Given the description of an element on the screen output the (x, y) to click on. 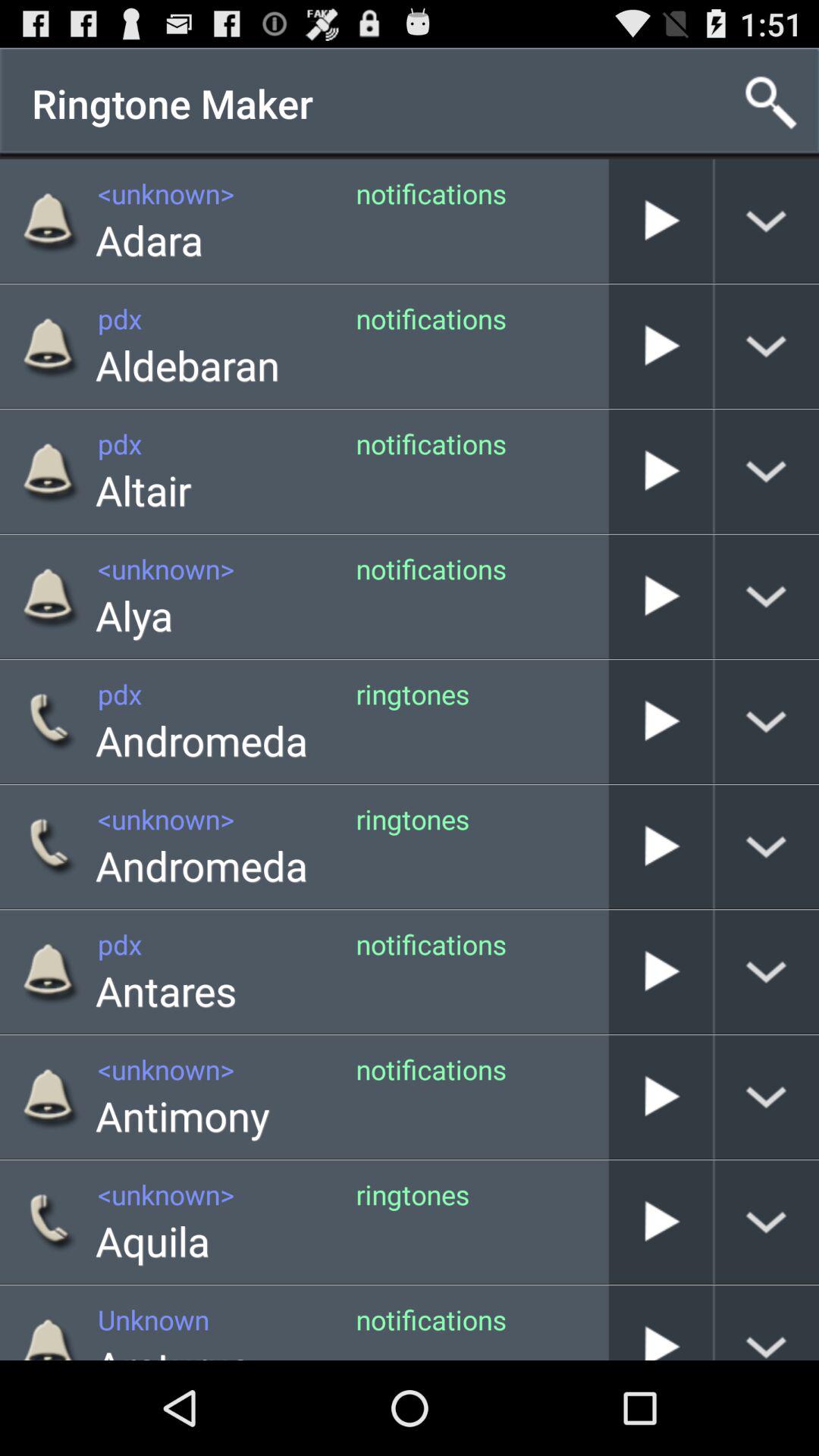
drop down button (767, 1097)
